Given the description of an element on the screen output the (x, y) to click on. 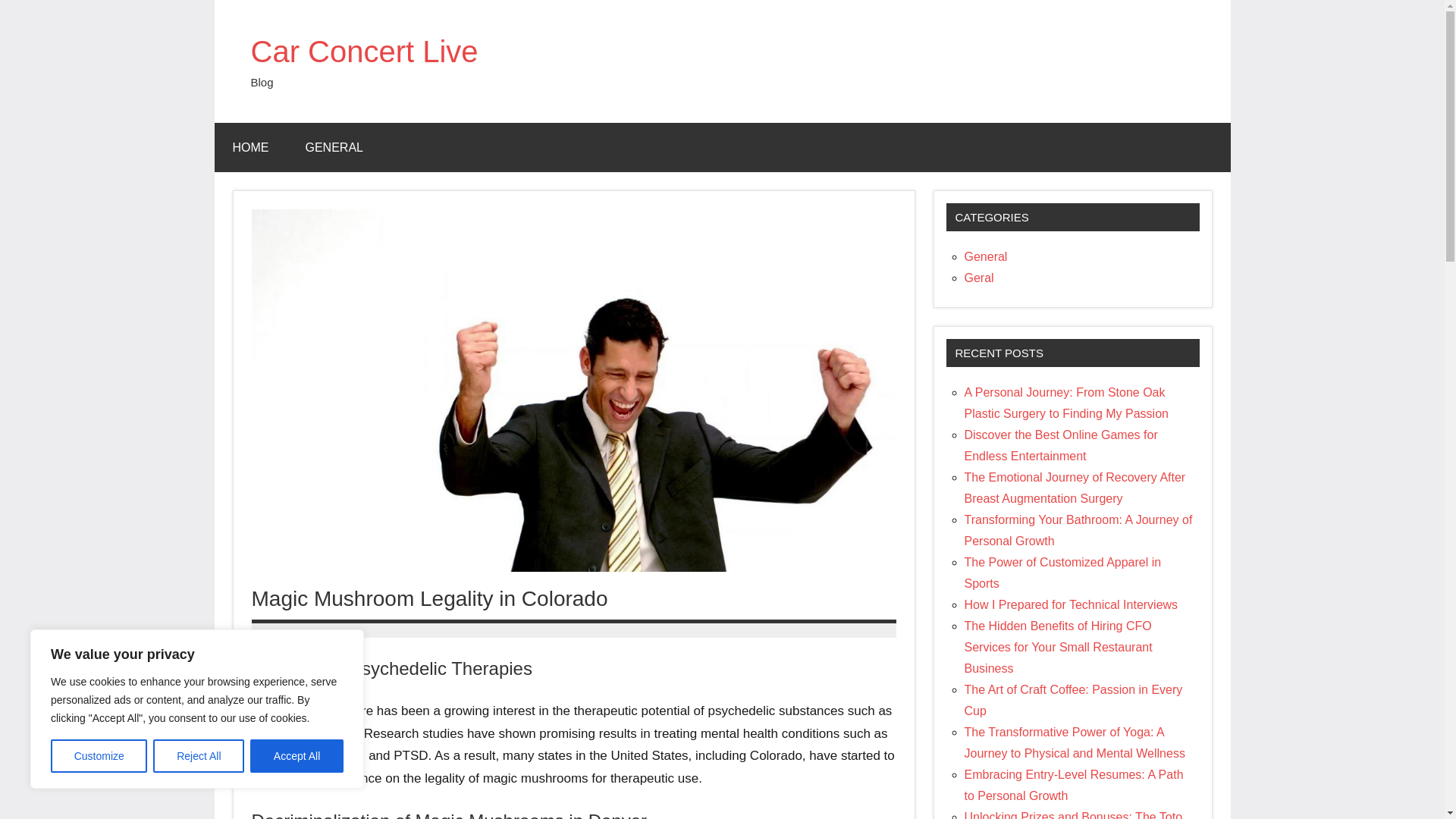
How I Prepared for Technical Interviews (1070, 604)
Accept All (296, 756)
The Power of Customized Apparel in Sports (1062, 572)
Geral (978, 277)
HOME (250, 146)
Transforming Your Bathroom: A Journey of Personal Growth (1077, 530)
GENERAL (333, 146)
